Given the description of an element on the screen output the (x, y) to click on. 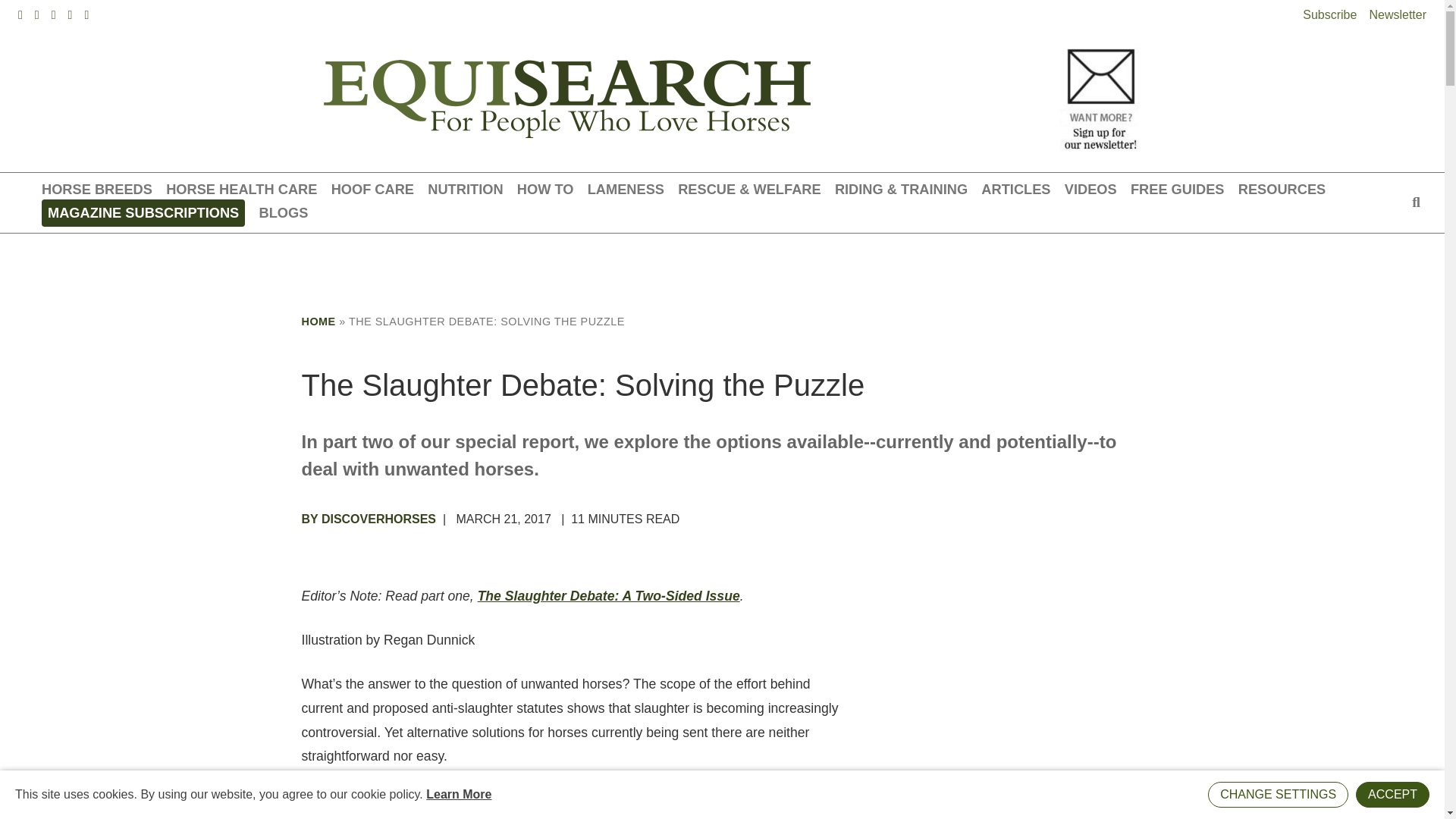
3rd party ad content (721, 267)
3rd party ad content (976, 698)
